Given the description of an element on the screen output the (x, y) to click on. 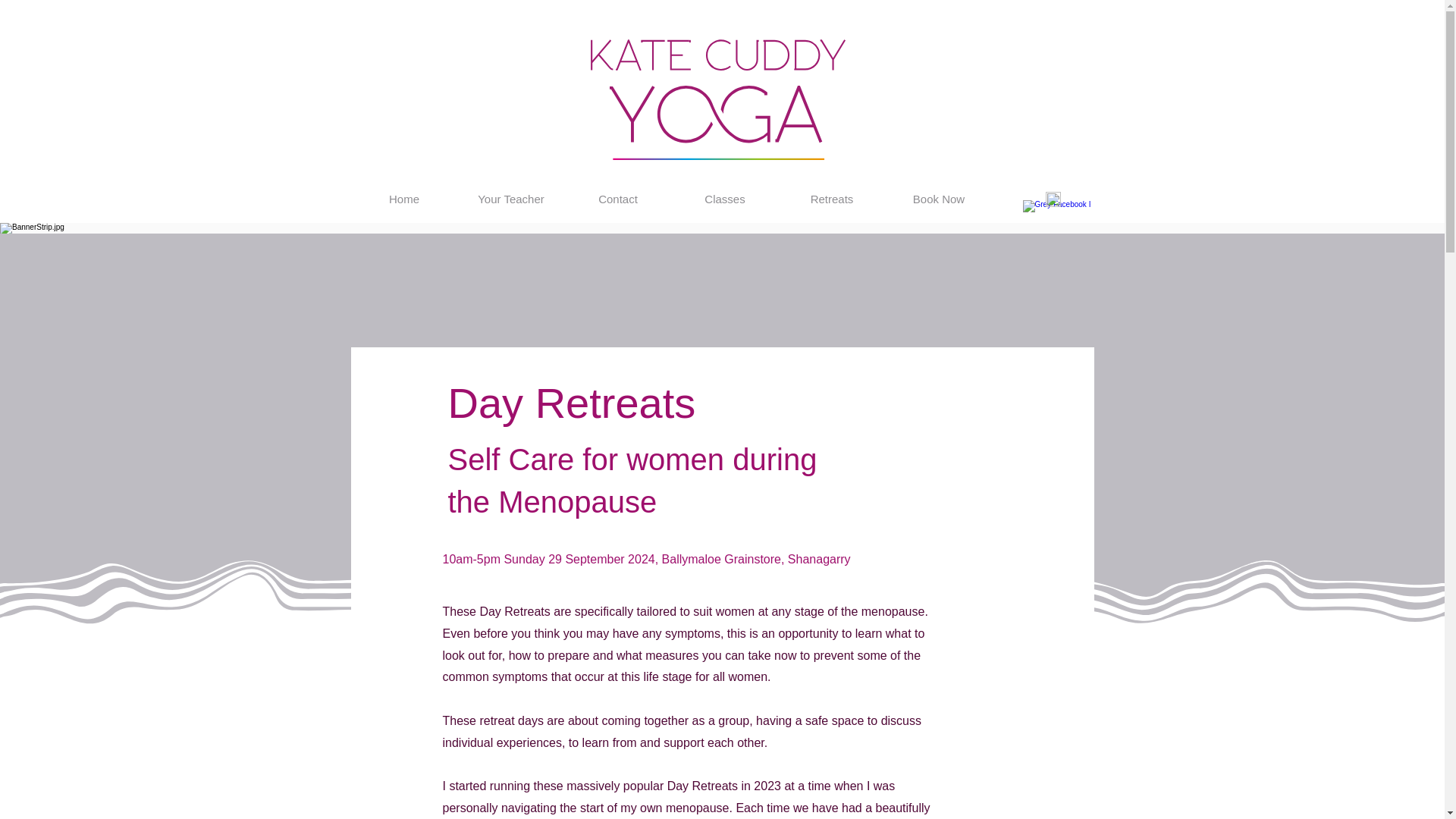
Book Now (938, 199)
Retreats (831, 199)
Home (403, 199)
Your Teacher (511, 199)
Contact (617, 199)
Classes (724, 199)
